Given the description of an element on the screen output the (x, y) to click on. 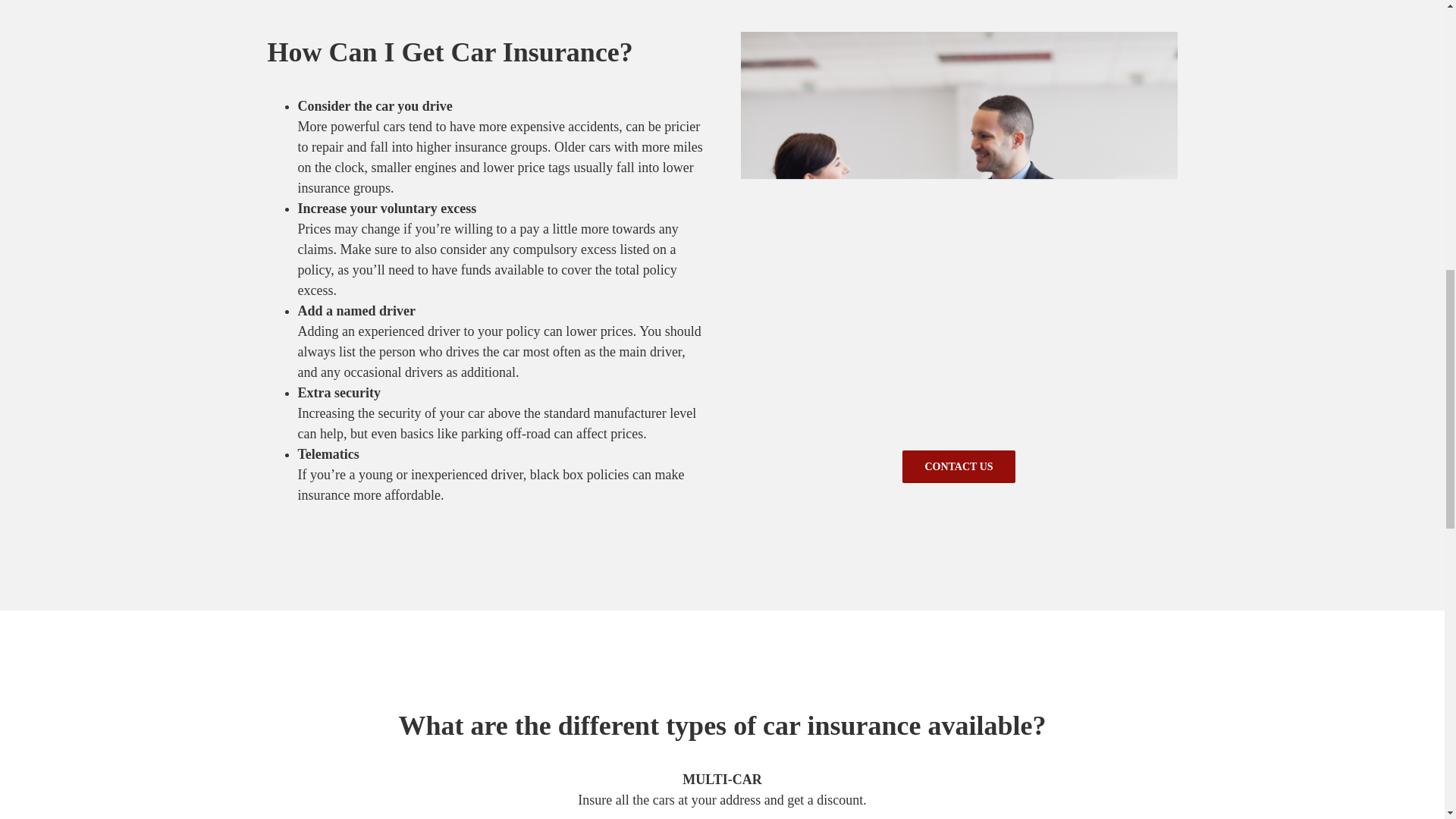
CONTACT US (958, 466)
